Given the description of an element on the screen output the (x, y) to click on. 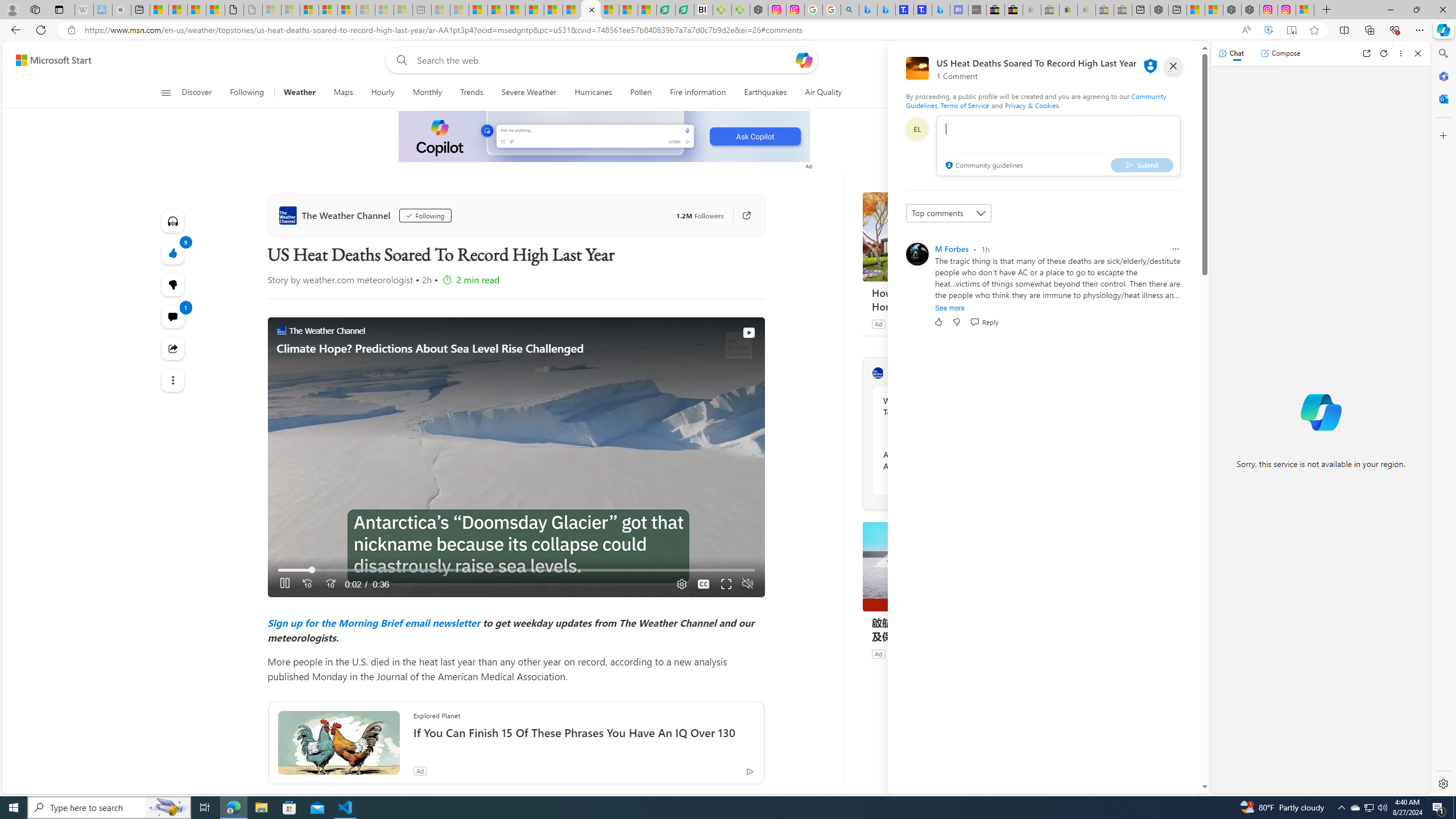
Pollen (641, 92)
Microsoft Bing Travel - Shangri-La Hotel Bangkok (941, 9)
Sign up for the Morning Brief email newsletter (373, 621)
Severe Weather (528, 92)
